Given the description of an element on the screen output the (x, y) to click on. 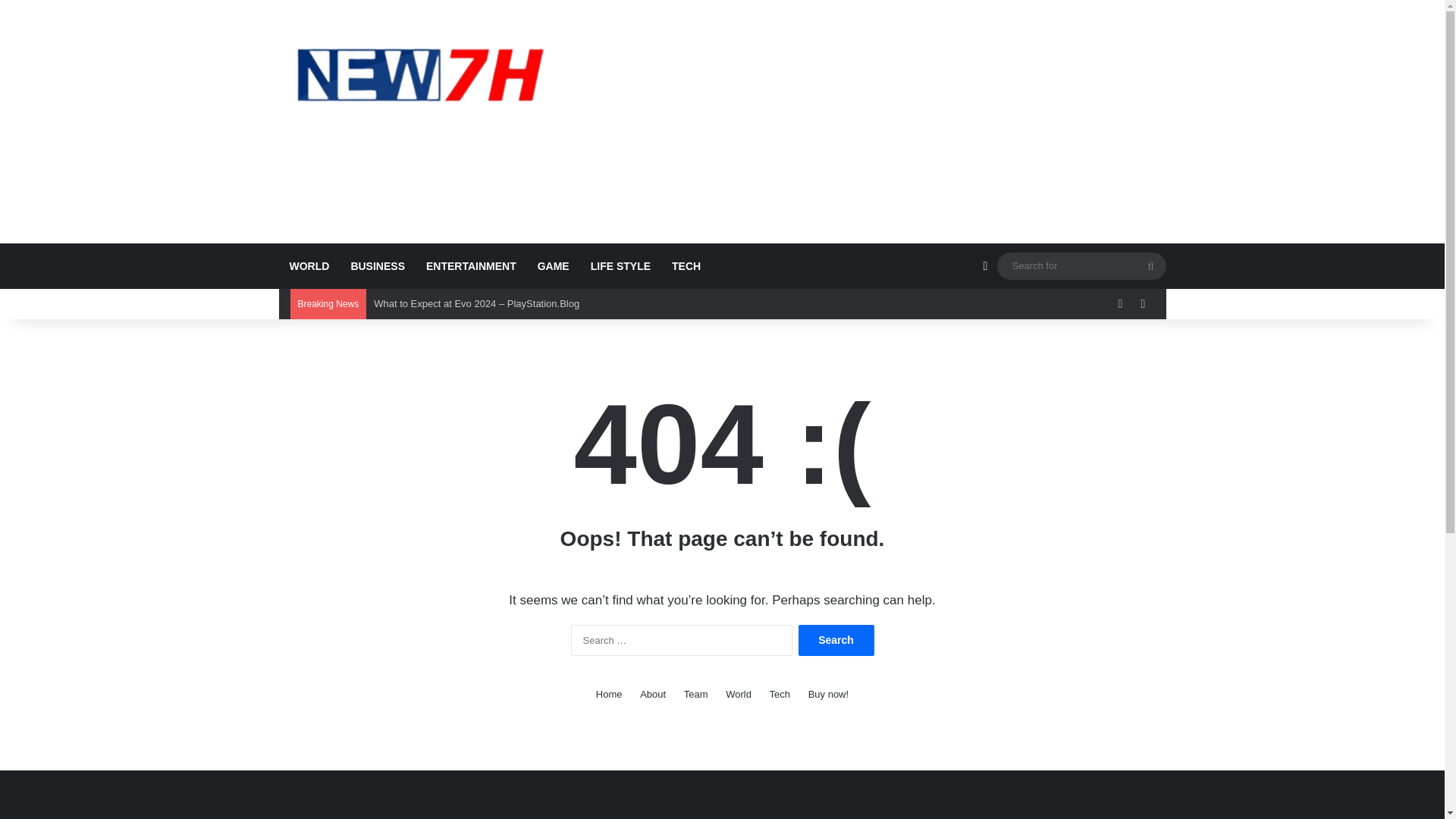
TECH (686, 266)
Search (835, 640)
Search for (1150, 266)
Buy now! (828, 693)
Team (695, 693)
BUSINESS (376, 266)
Search (835, 640)
World (738, 693)
Search for (1080, 265)
About (652, 693)
News7h (419, 73)
GAME (553, 266)
Home (609, 693)
Search (835, 640)
WORLD (309, 266)
